Given the description of an element on the screen output the (x, y) to click on. 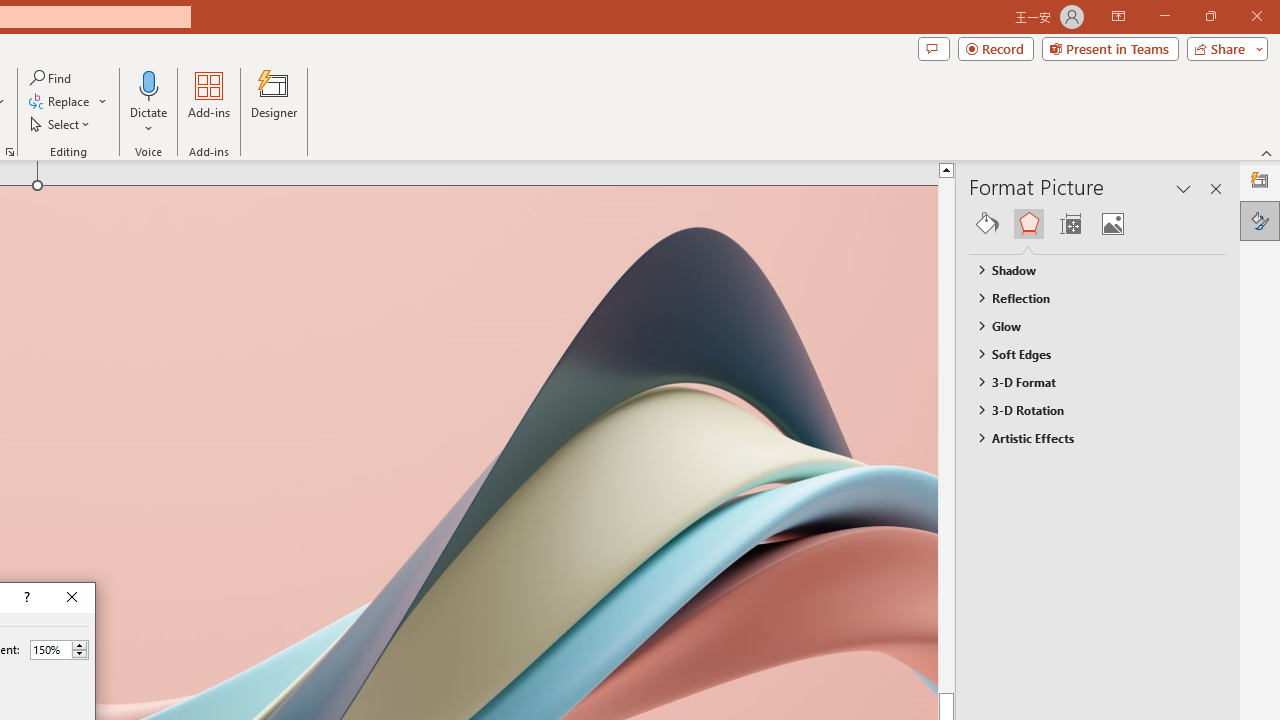
3-D Format (1088, 381)
Format Picture (1260, 220)
Percent (50, 649)
Class: NetUIGalleryContainer (1098, 223)
Percent (59, 650)
